Given the description of an element on the screen output the (x, y) to click on. 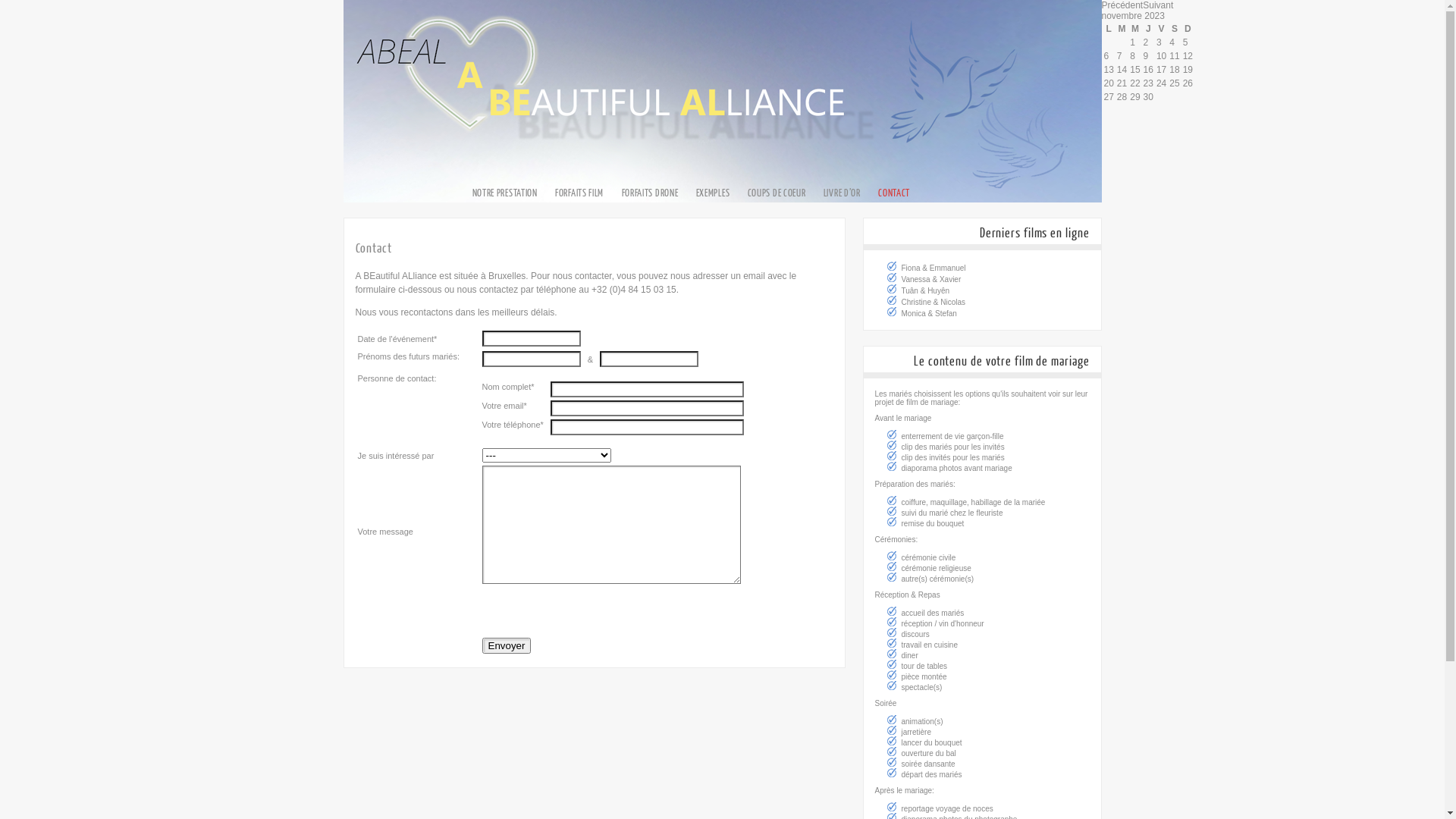
Vanessa & Xavier Element type: text (930, 279)
Envoyer Element type: text (506, 645)
Fiona & Emmanuel Element type: text (932, 267)
29 Element type: text (1134, 96)
Monica & Stefan Element type: text (928, 313)
CONTACT Element type: text (894, 192)
EXEMPLES Element type: text (713, 192)
COUPS DE COEUR Element type: text (776, 192)
28 Element type: text (1121, 96)
30 Element type: text (1148, 96)
26 Element type: text (1187, 83)
NOTRE PRESTATION Element type: text (503, 192)
27 Element type: text (1108, 96)
Christine & Nicolas Element type: text (932, 302)
25 Element type: text (1174, 83)
24 Element type: text (1161, 83)
Suivant Element type: text (1157, 5)
FORFAITS DRONE Element type: text (649, 192)
FORFAITS FILM Element type: text (579, 192)
